Given the description of an element on the screen output the (x, y) to click on. 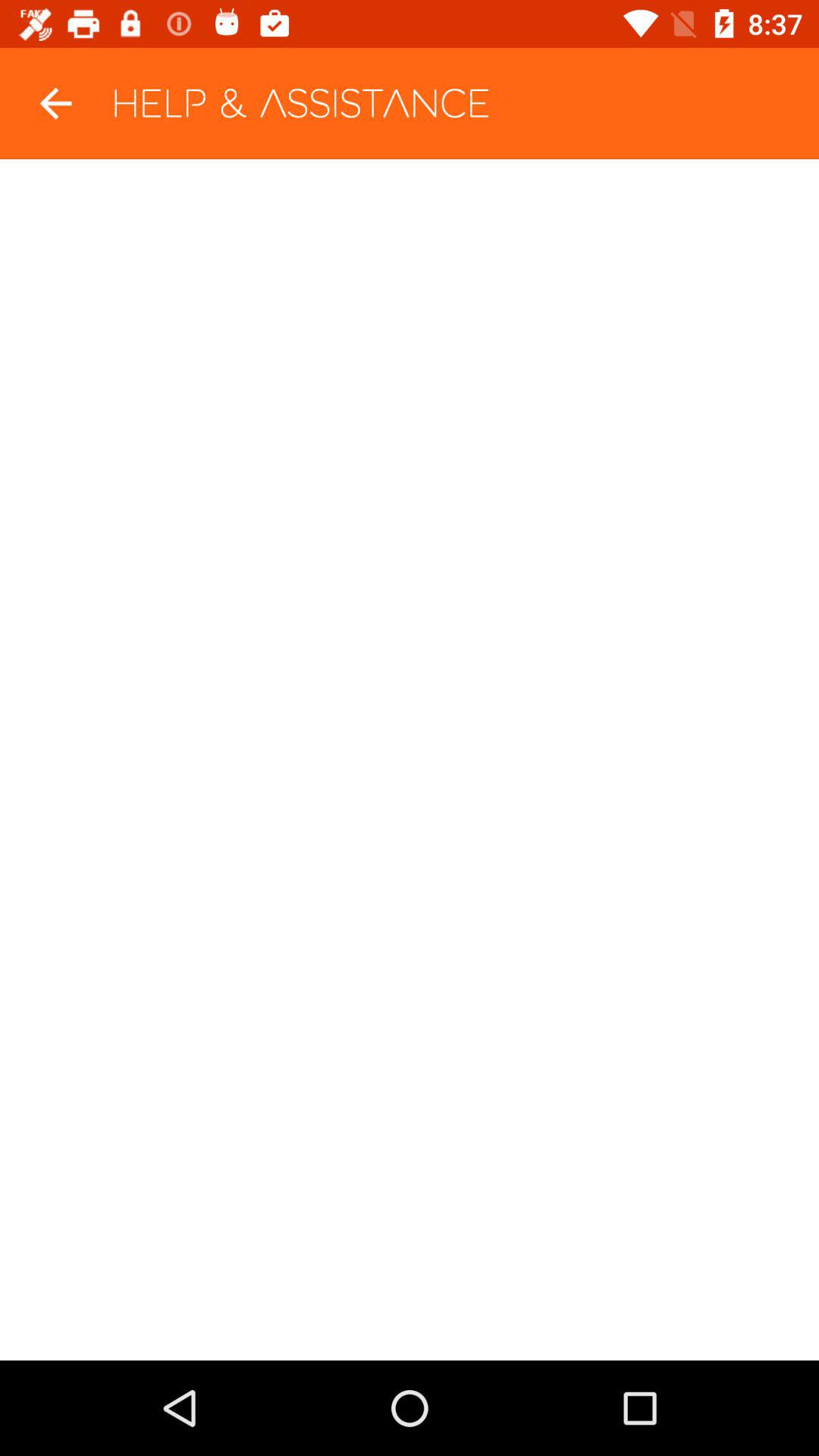
turn off item to the left of the help & assistance (55, 103)
